Given the description of an element on the screen output the (x, y) to click on. 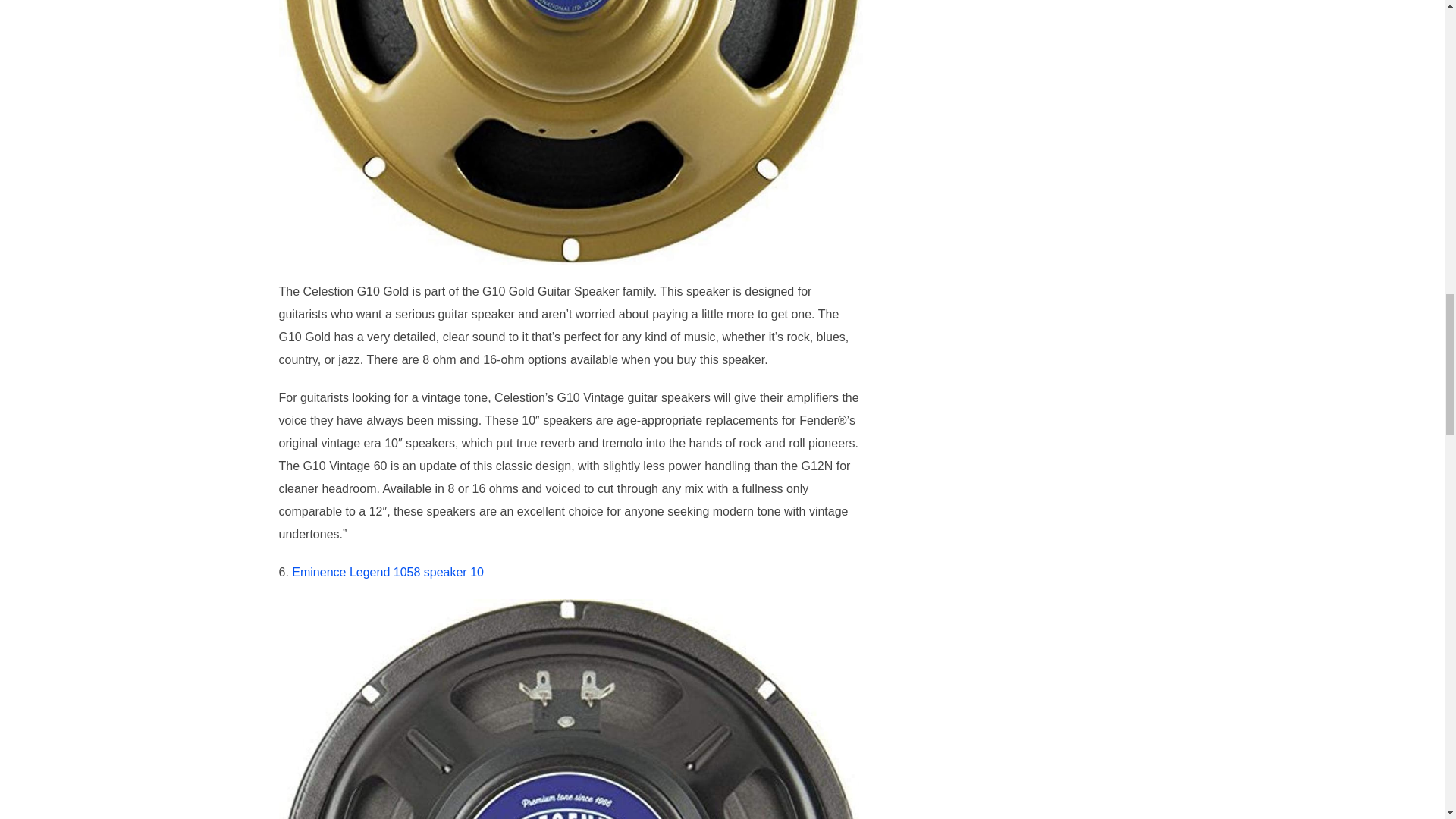
Eminence Legend 1058 speaker 10 (387, 571)
